Given the description of an element on the screen output the (x, y) to click on. 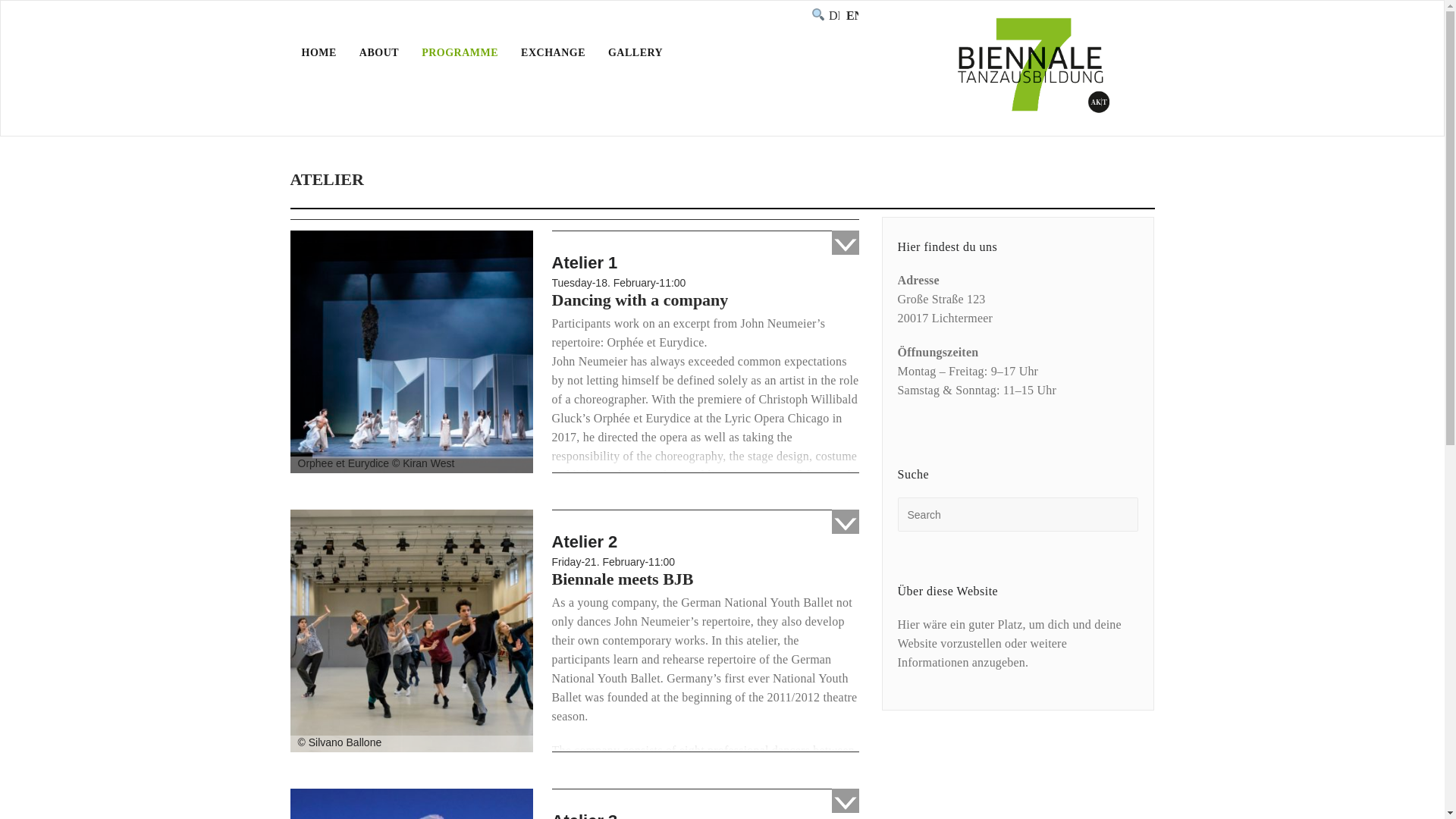
Education (1085, 196)
EXCHANGE (552, 52)
PROGRAMME (459, 52)
HOME (318, 52)
Home (960, 196)
Atelier 1 (410, 350)
ABOUT (378, 52)
Atelier 2 (410, 629)
Programme (1018, 196)
GALLERY (635, 52)
